Given the description of an element on the screen output the (x, y) to click on. 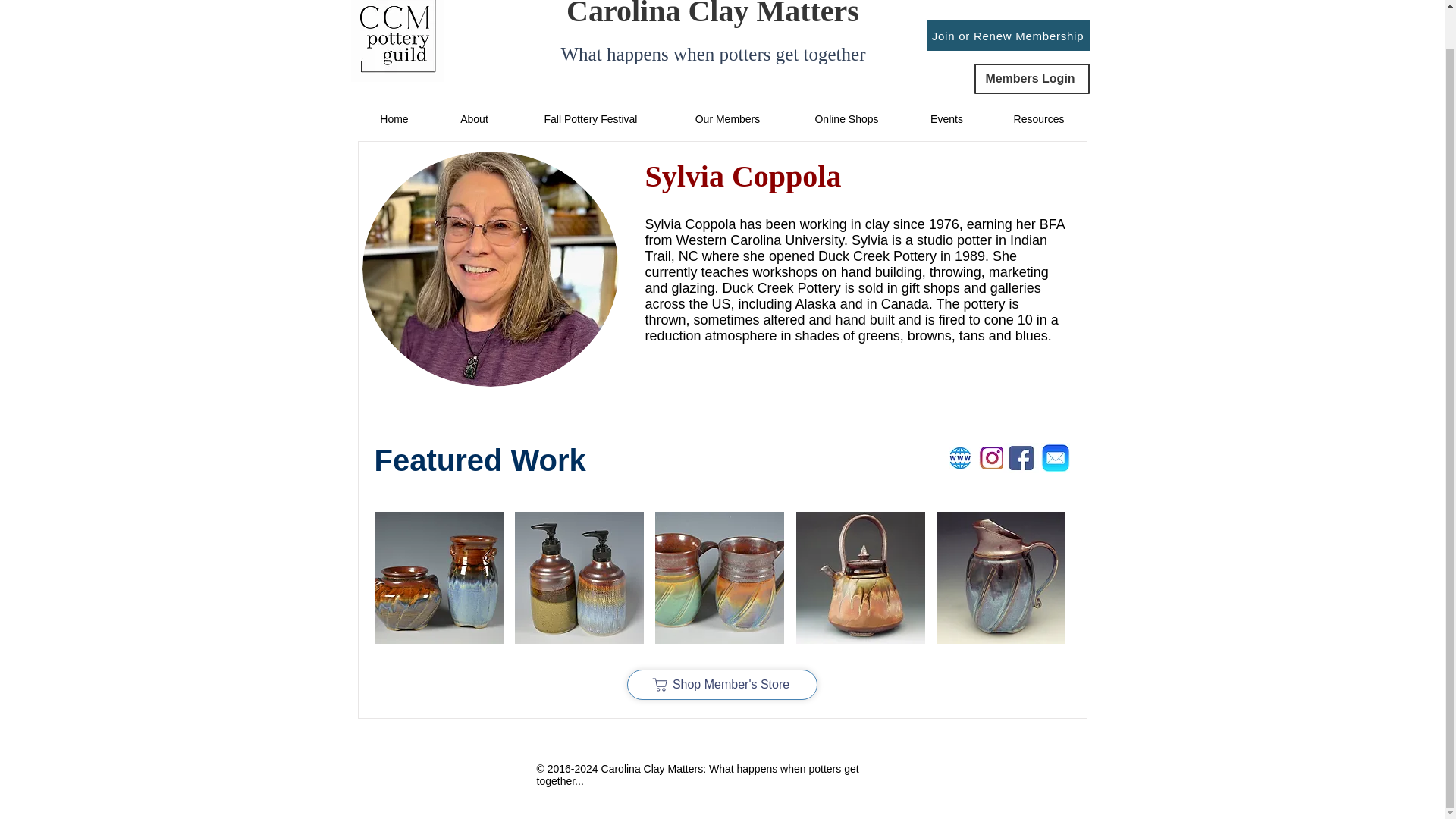
Fall Pottery Festival (589, 118)
Join or Renew Membership (1007, 35)
Our Members (726, 118)
Home (394, 118)
Members Login (1031, 78)
Online Shops (845, 118)
Shop Member's Store (721, 684)
